Given the description of an element on the screen output the (x, y) to click on. 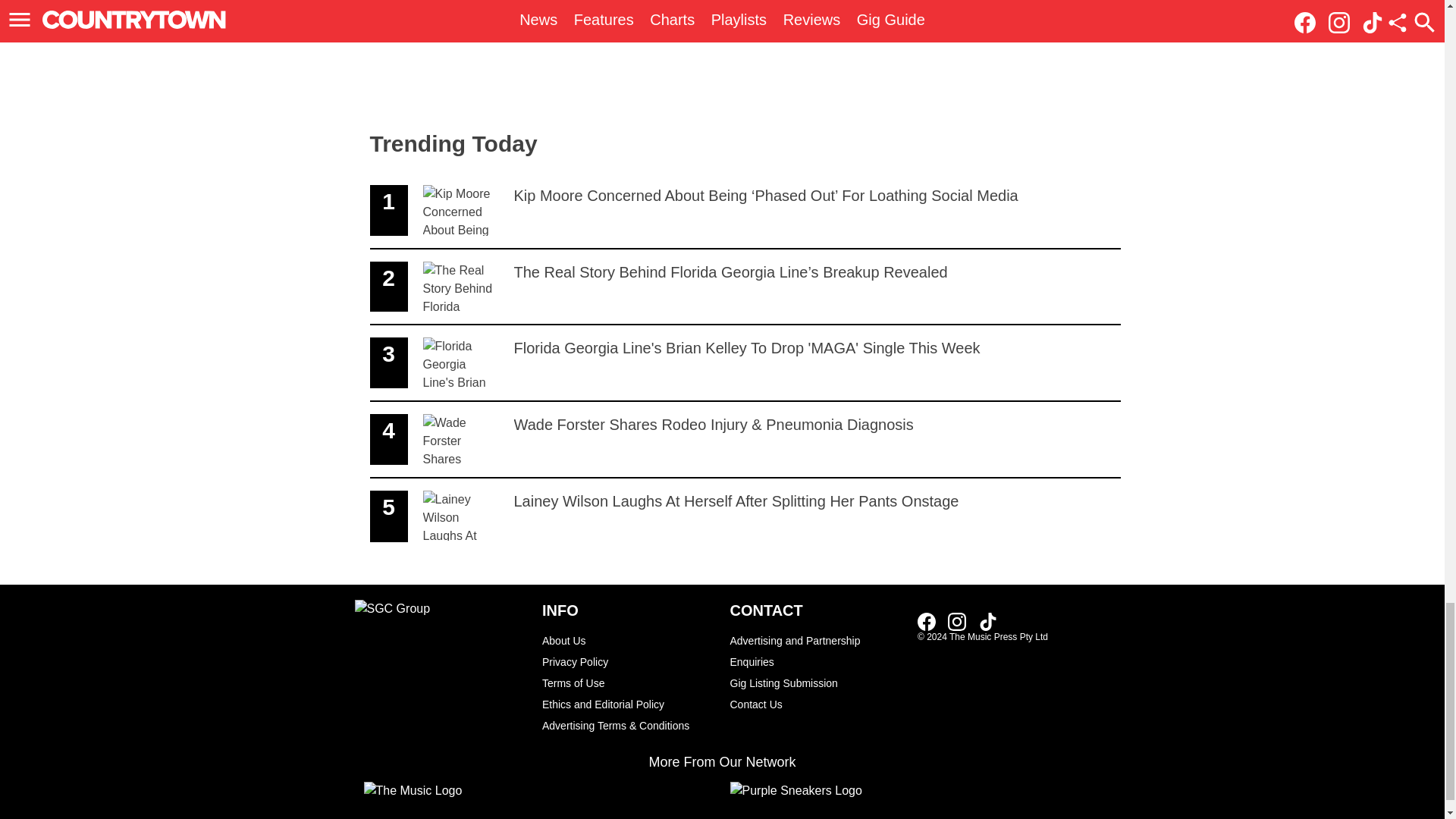
About Us (627, 640)
Privacy Policy (627, 661)
Terms of Use (627, 682)
Link to our TikTok (987, 621)
Link to our Facebook (926, 621)
Link to our Instagram (956, 621)
